Given the description of an element on the screen output the (x, y) to click on. 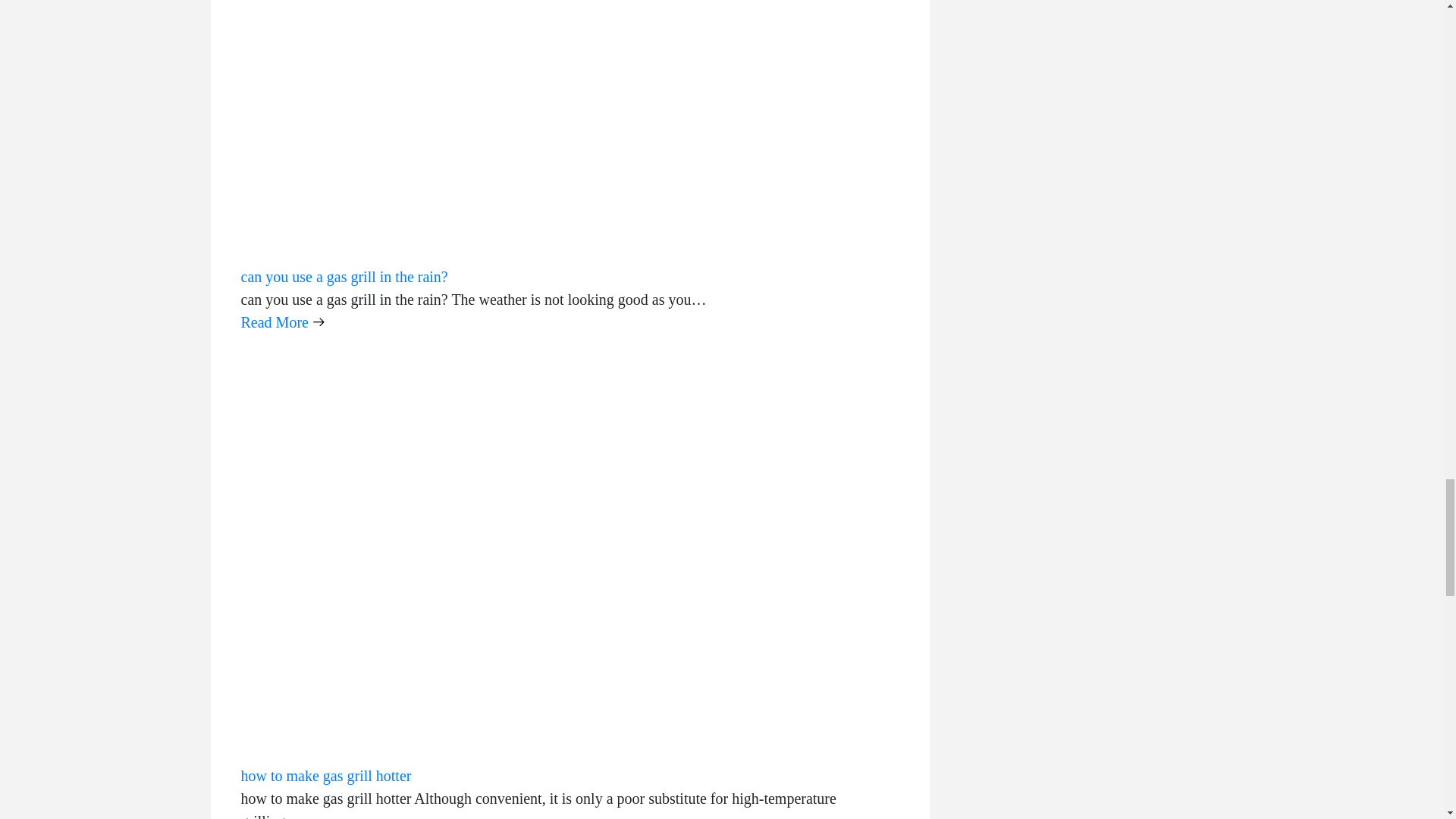
can you use a gas grill in the rain? (344, 276)
